Given the description of an element on the screen output the (x, y) to click on. 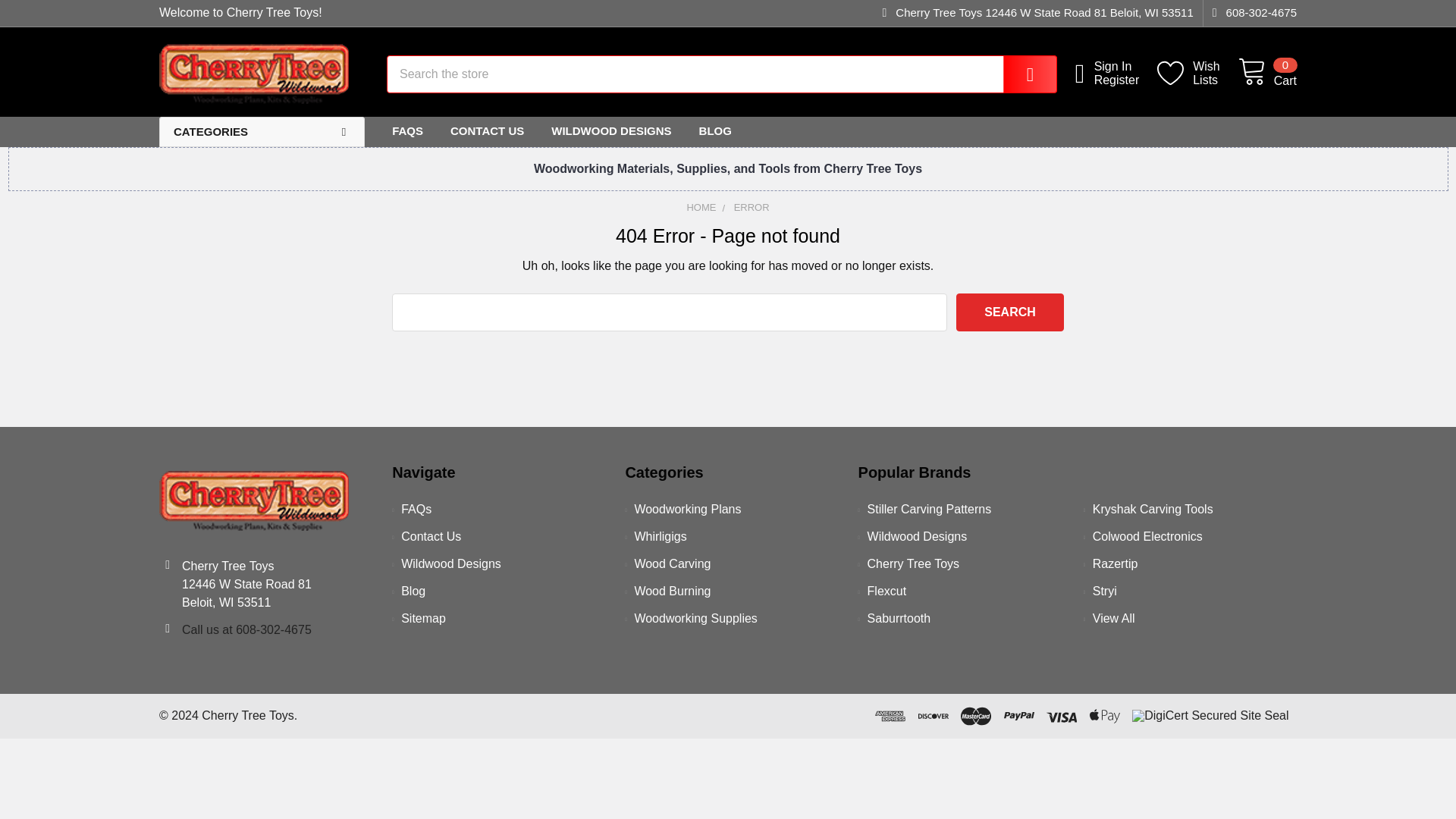
Search (1198, 73)
608-302-4675 (1019, 73)
Sign In (1250, 13)
Search (1268, 72)
Cherry Tree Toys (1125, 66)
Cherry Tree Toys (1010, 312)
Cart (253, 74)
Search (253, 500)
